Given the description of an element on the screen output the (x, y) to click on. 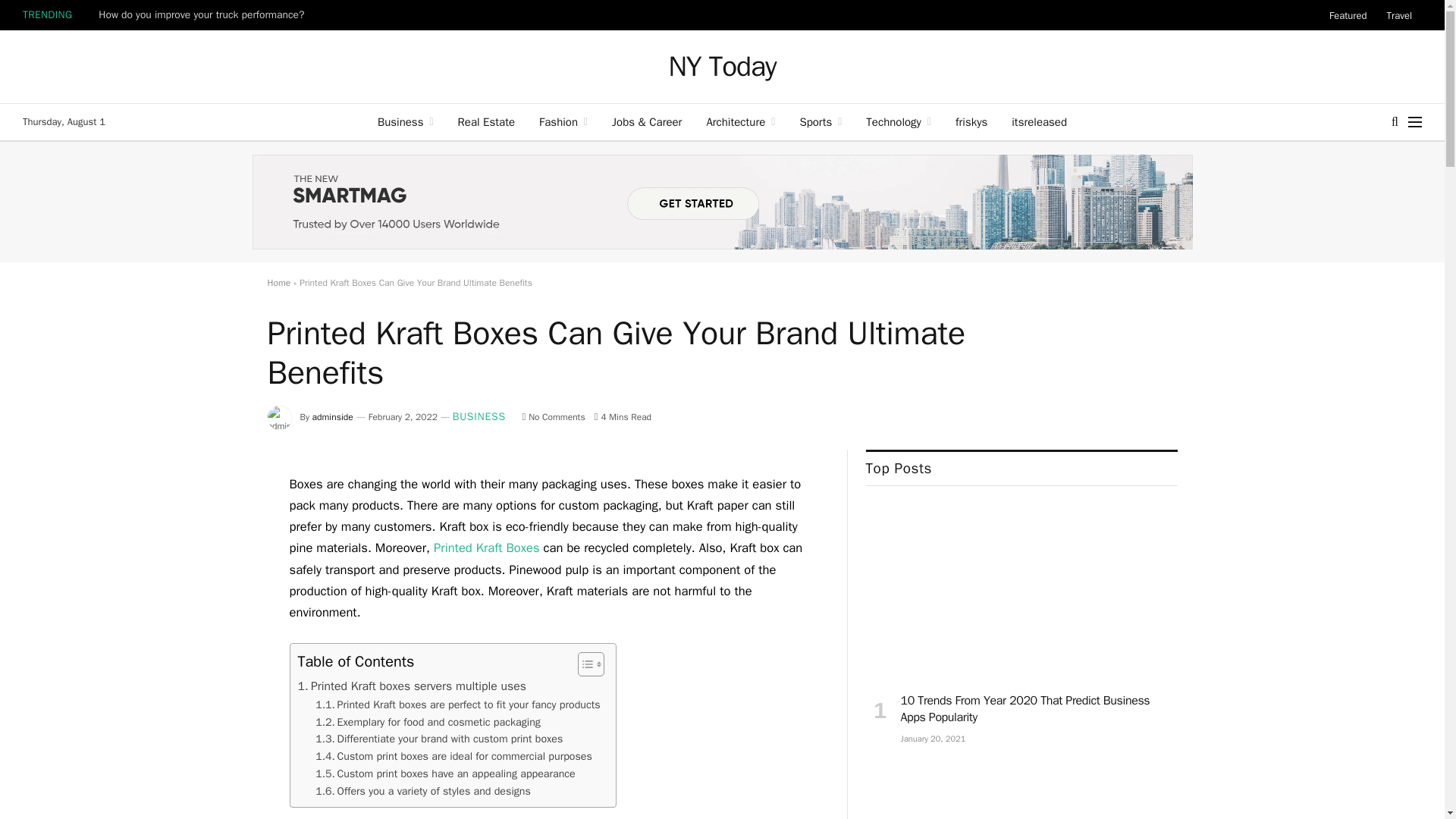
NY Today (722, 66)
Exemplary for food and cosmetic packaging (427, 722)
How do you improve your truck performance? (205, 15)
Printed Kraft boxes are perfect to fit your fancy products (457, 704)
Printed Kraft boxes servers multiple uses (411, 686)
Posts by adminside (333, 417)
